Given the description of an element on the screen output the (x, y) to click on. 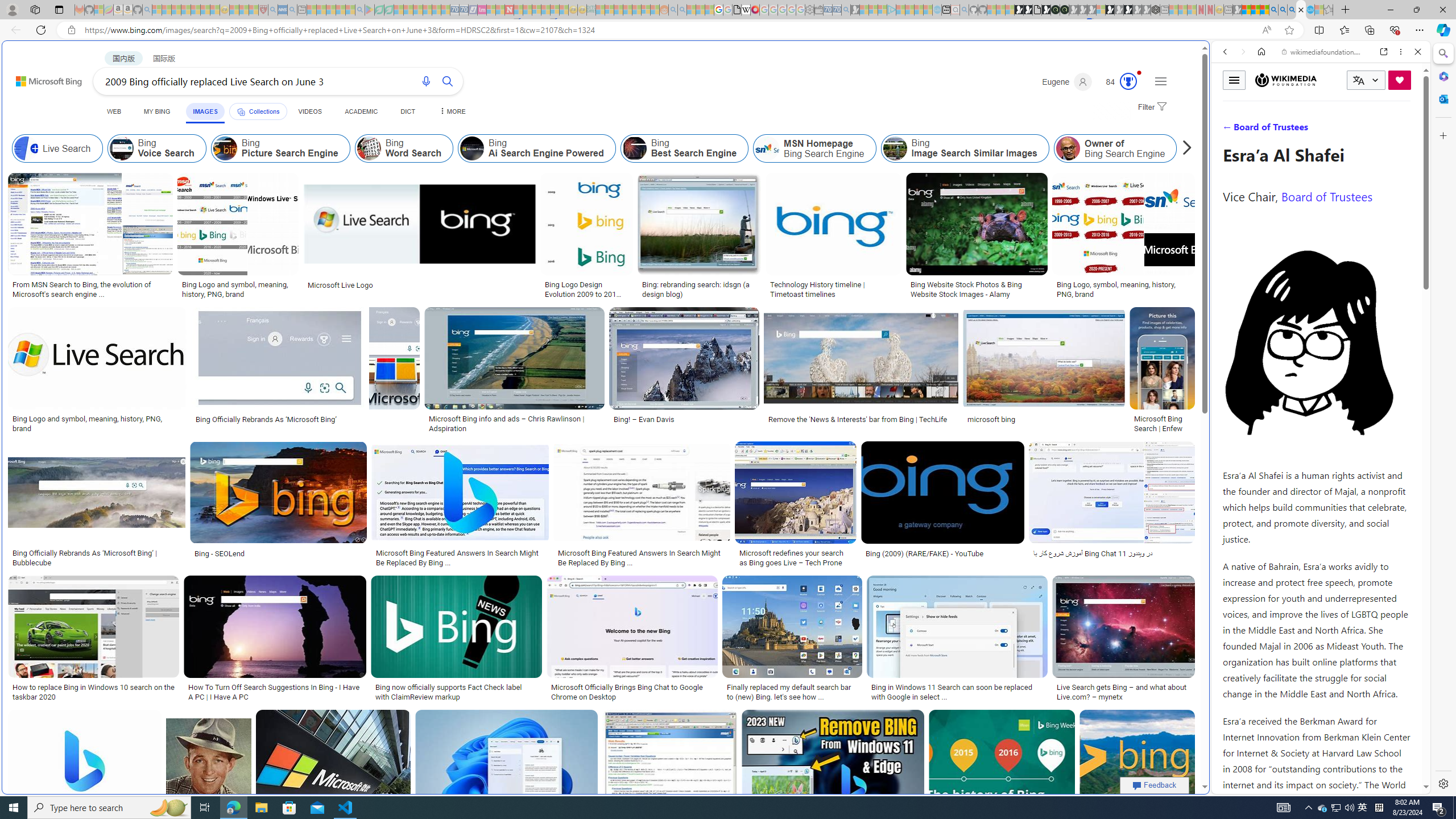
Search using voice (426, 80)
WEB (114, 111)
Play Zoo Boom in your browser | Games from Microsoft Start (1027, 9)
Owner of Bing Search Engine (1067, 148)
Bing Logo, symbol, meaning, history, PNG, brand (1124, 289)
